Given the description of an element on the screen output the (x, y) to click on. 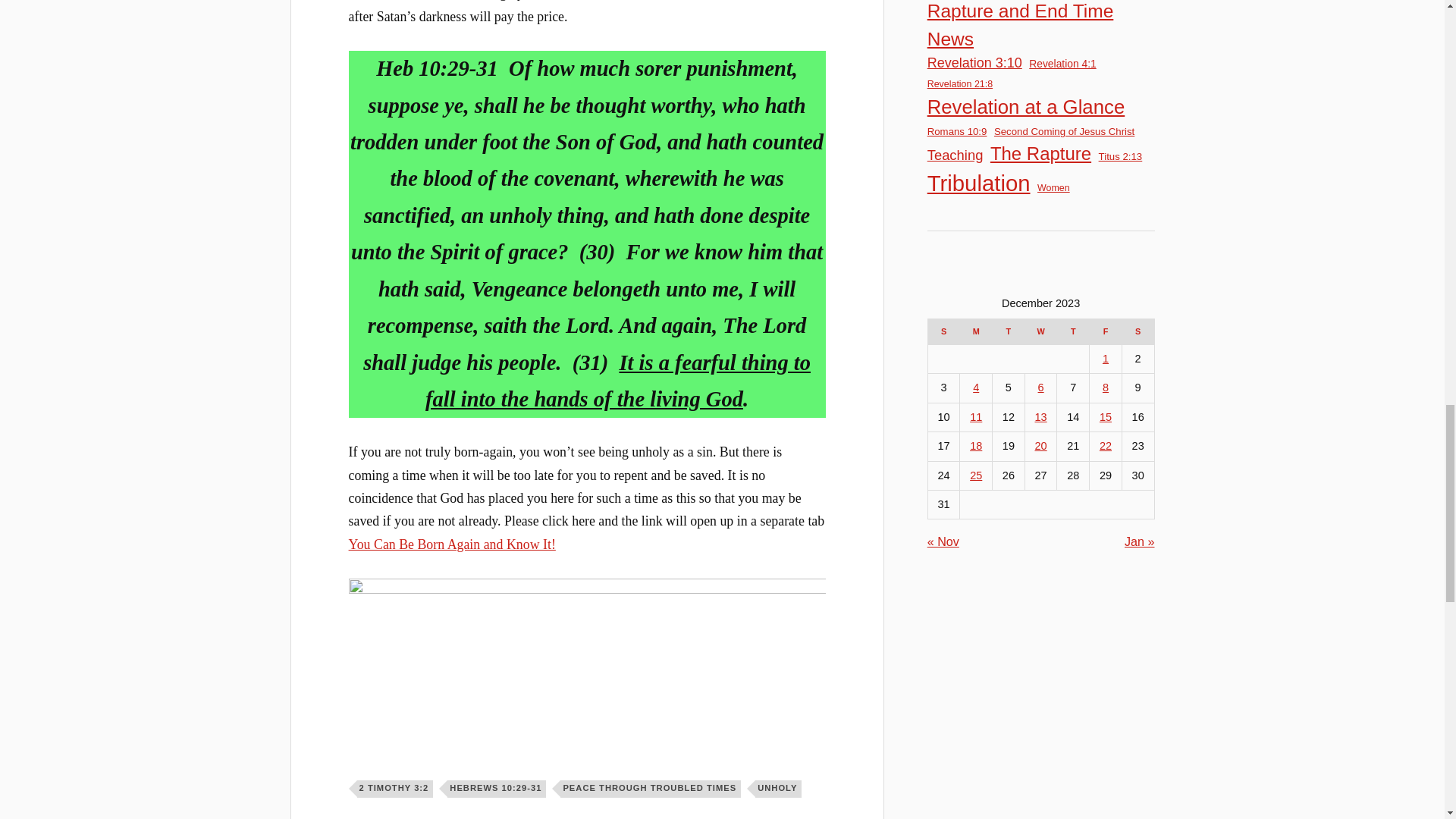
Monday (975, 330)
Wednesday (1041, 330)
You Can Be Born Again and Know It! (452, 544)
2 TIMOTHY 3:2 (394, 788)
UNHOLY (778, 788)
PEACE THROUGH TROUBLED TIMES (650, 788)
Thursday (1073, 330)
HEBREWS 10:29-31 (496, 788)
Friday (1105, 330)
Sunday (943, 330)
